Given the description of an element on the screen output the (x, y) to click on. 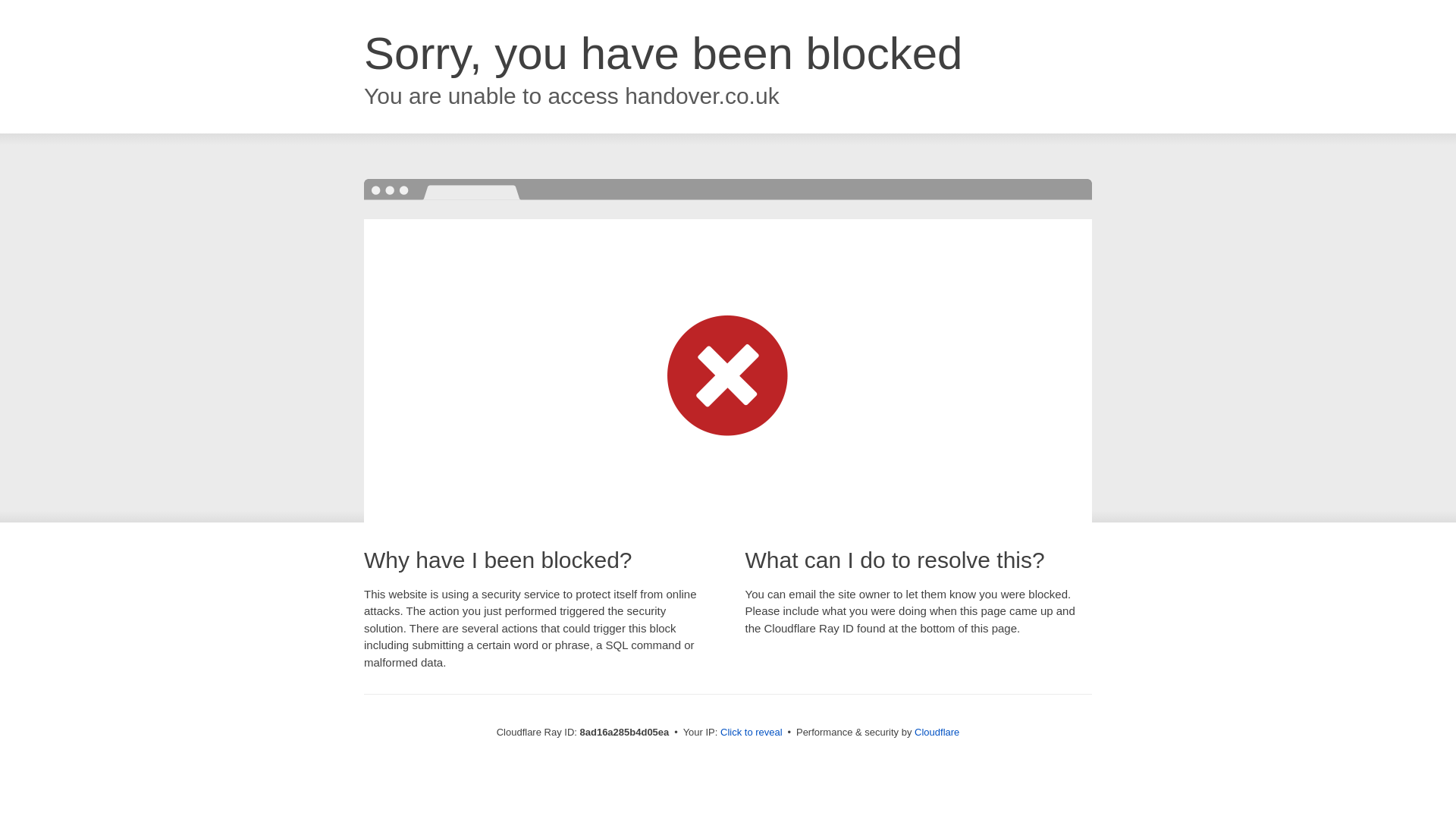
Click to reveal (751, 732)
Cloudflare (936, 731)
